Given the description of an element on the screen output the (x, y) to click on. 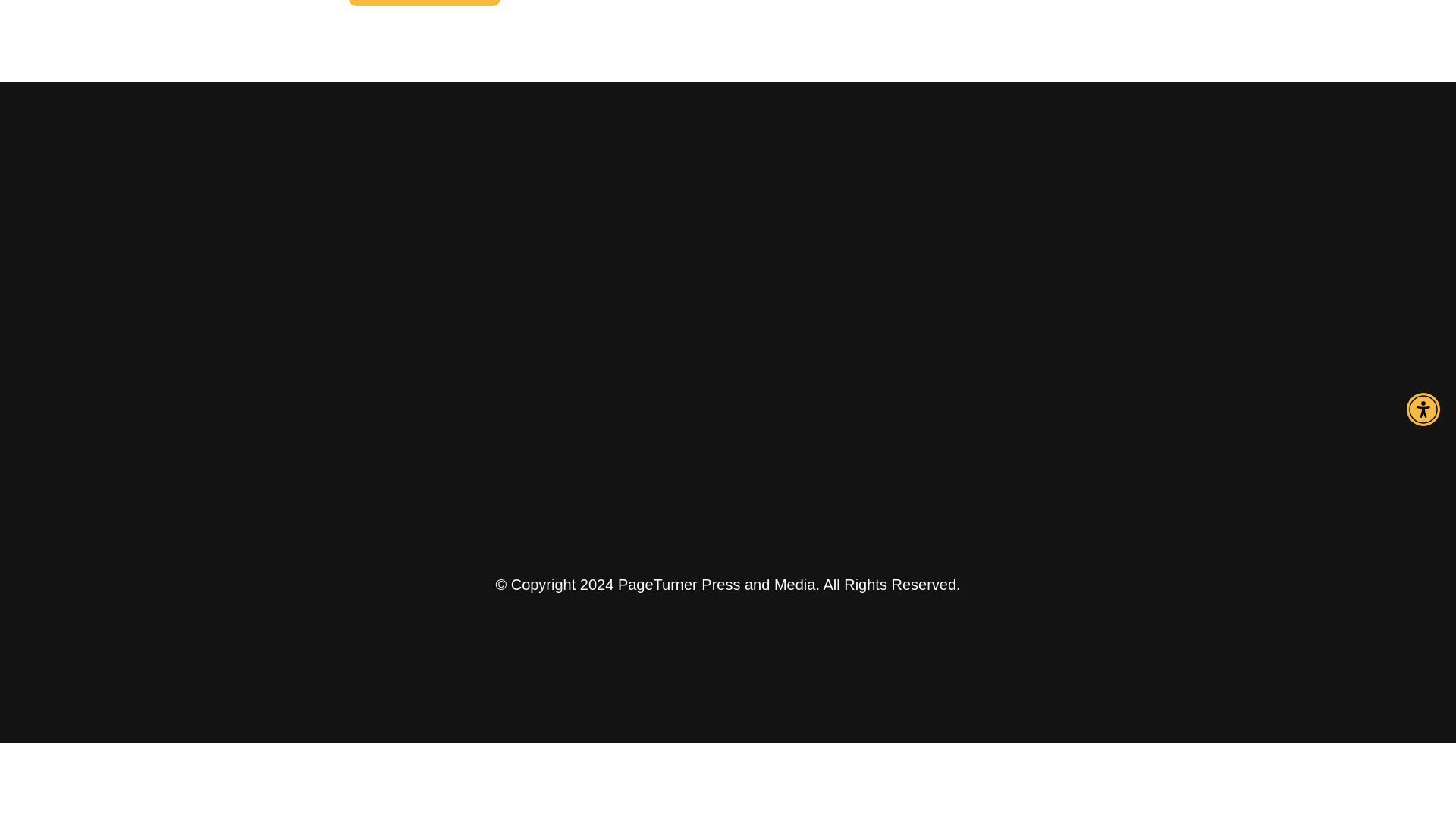
SUBMIT (424, 2)
SUBMIT (424, 2)
